Given the description of an element on the screen output the (x, y) to click on. 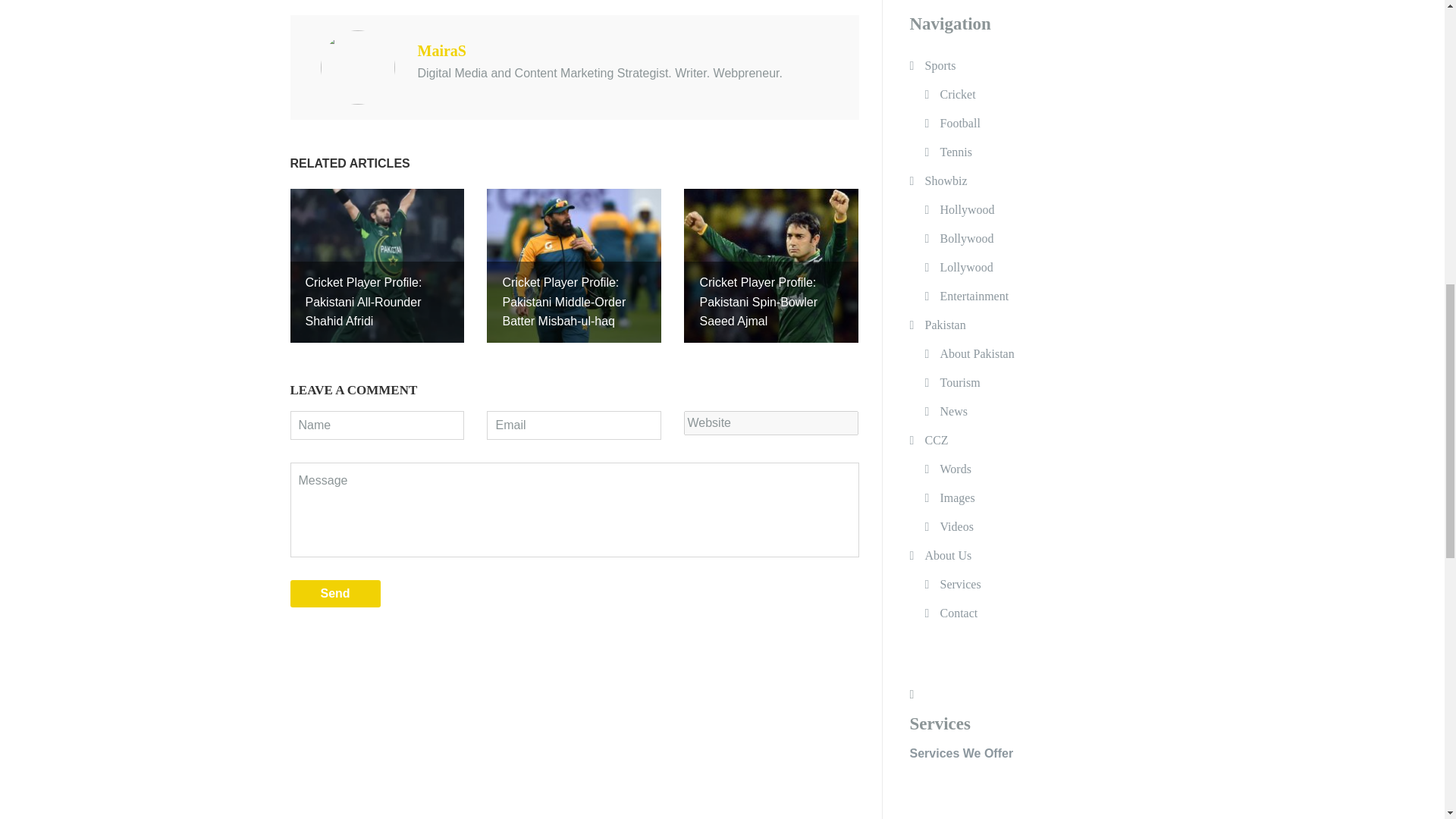
Cricket Player Profile: Pakistani Spin-Bowler Saeed Ajmal (771, 266)
Send (334, 593)
Cricket Player Profile: Pakistani All-Rounder Shahid Afridi (376, 266)
